Given the description of an element on the screen output the (x, y) to click on. 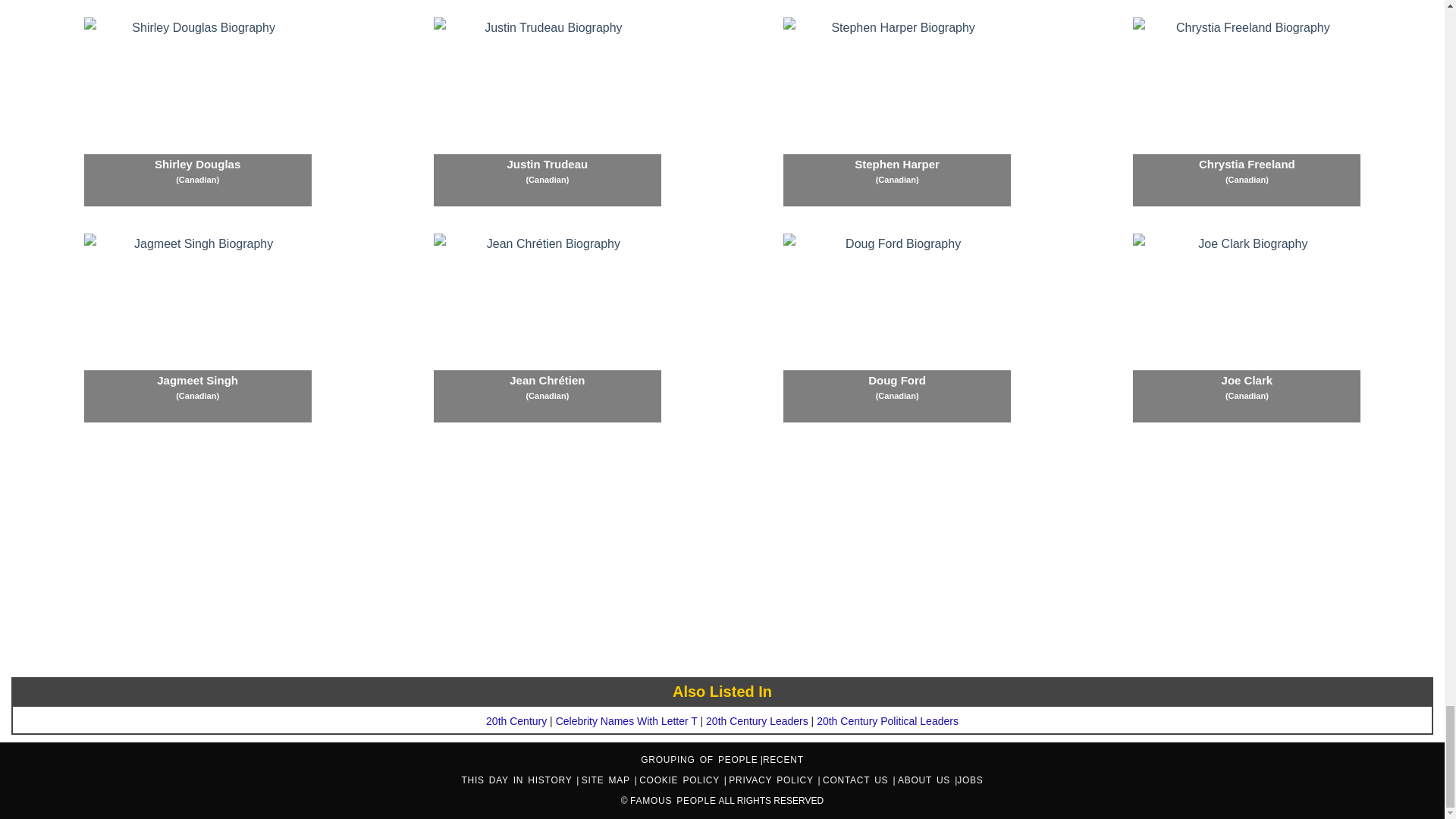
Stephen Harper (896, 112)
Shirley Douglas (197, 112)
Justin Trudeau (547, 112)
Doug Ford (896, 328)
Chrystia Freeland (1245, 112)
Joe Clark (1245, 328)
Jagmeet Singh (197, 328)
